Given the description of an element on the screen output the (x, y) to click on. 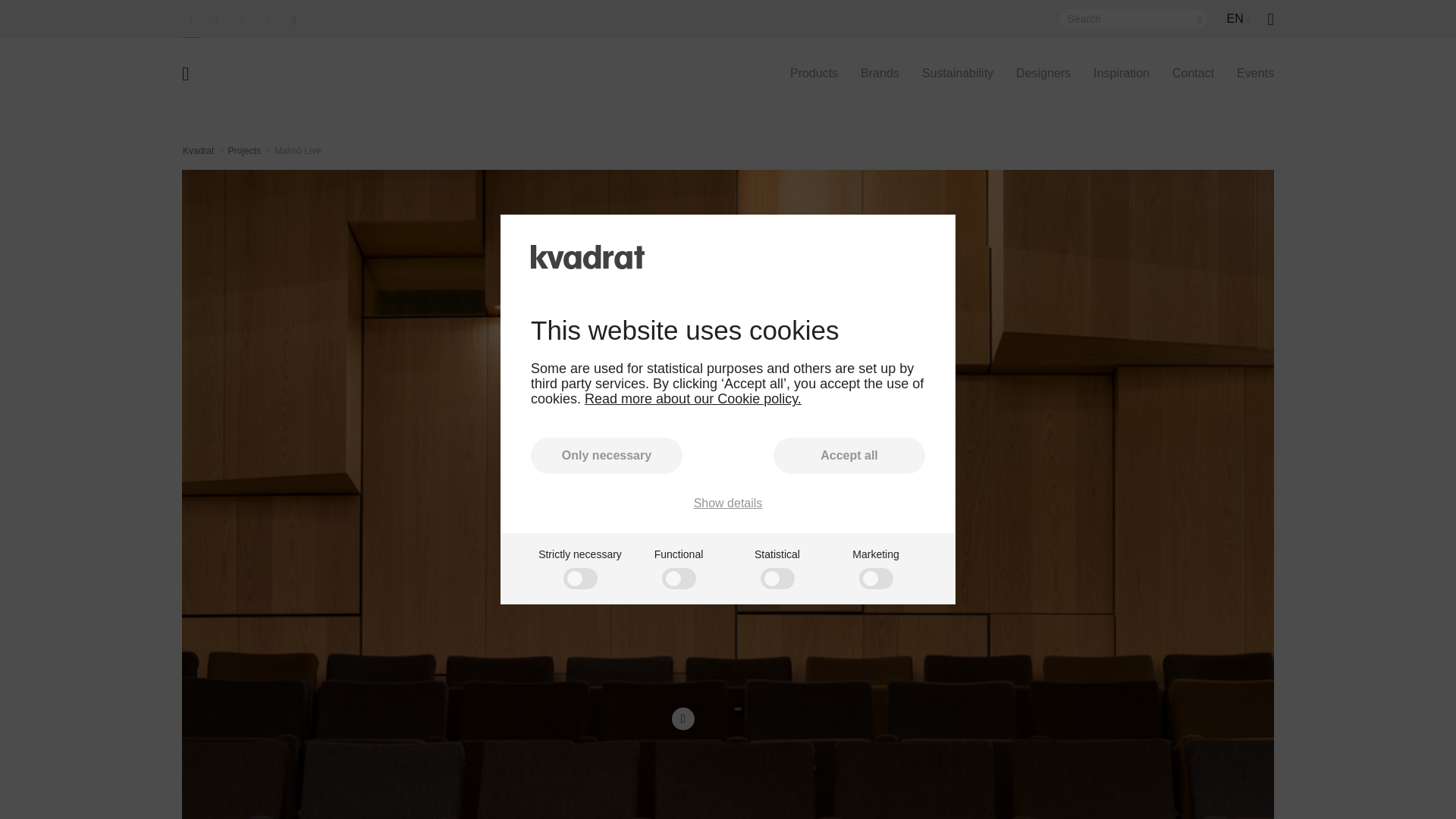
Read more about our Cookie policy. (693, 398)
Only necessary (606, 455)
Accept all (848, 455)
Show details (728, 503)
